Given the description of an element on the screen output the (x, y) to click on. 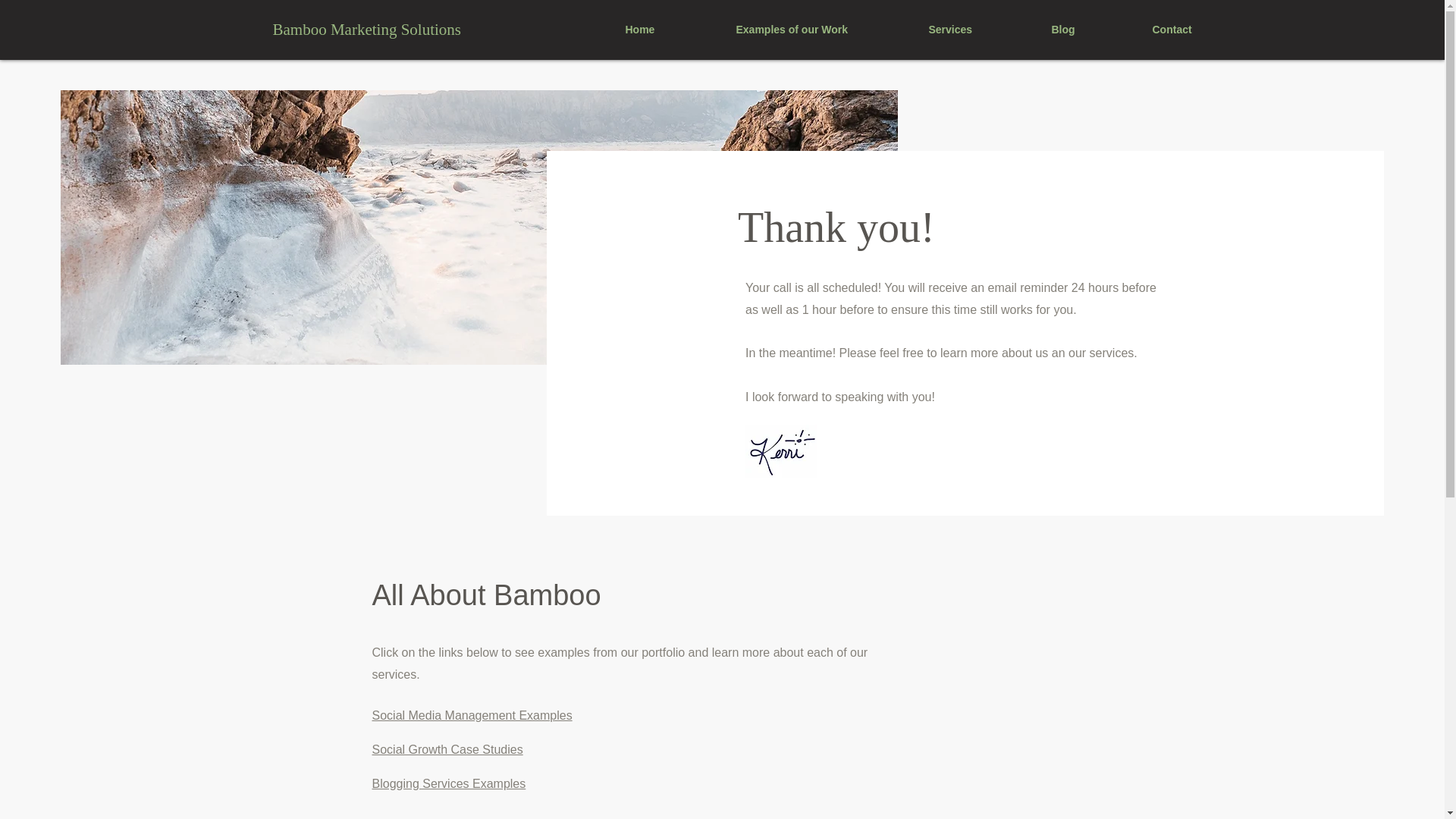
Home (668, 29)
Social Media Management Examples (471, 715)
Contact (1201, 29)
Blog (1089, 29)
Social Growth Case Studies (446, 748)
Blogging Services Examples (448, 783)
